Given the description of an element on the screen output the (x, y) to click on. 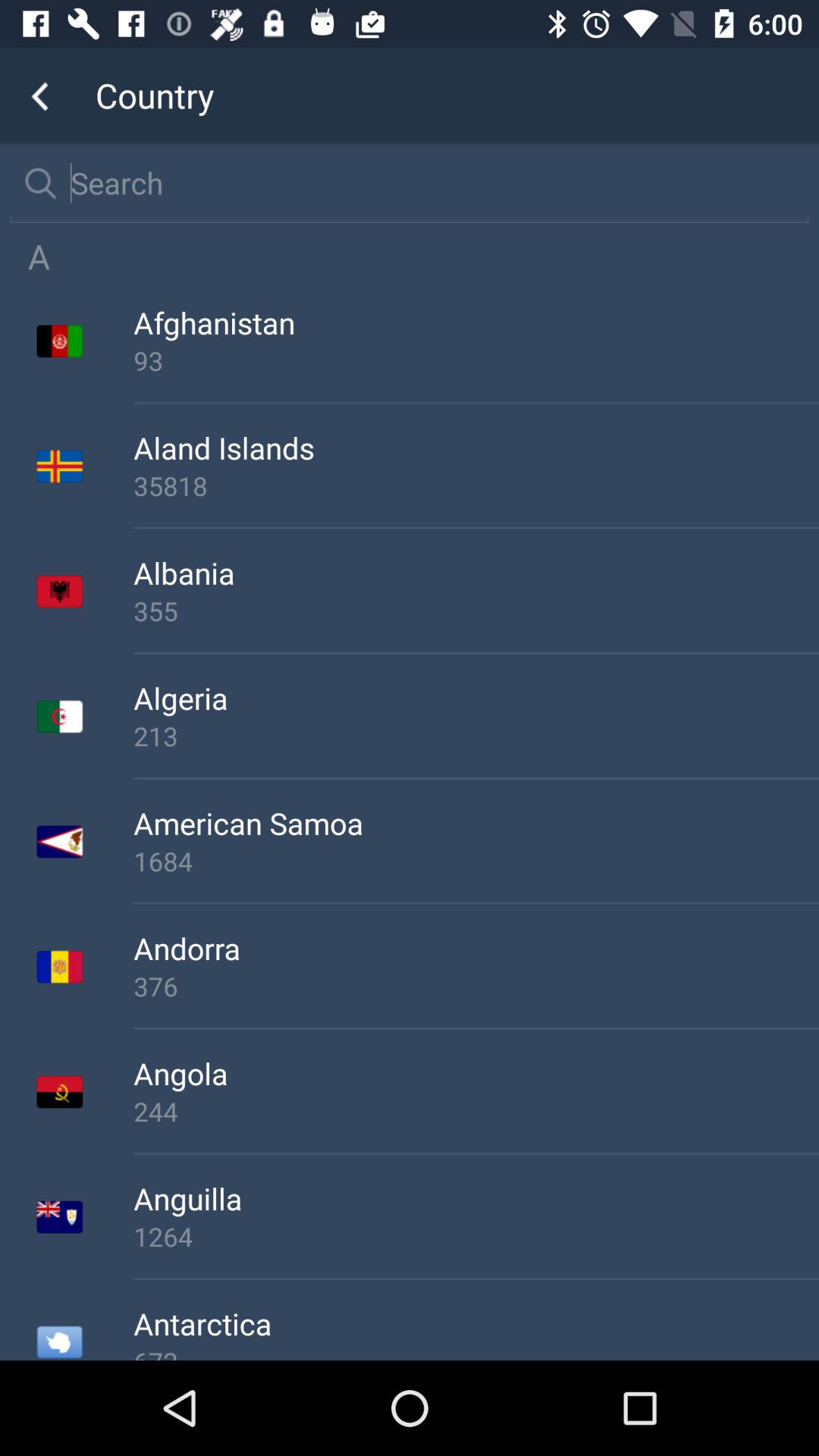
type to search for country (429, 183)
